Given the description of an element on the screen output the (x, y) to click on. 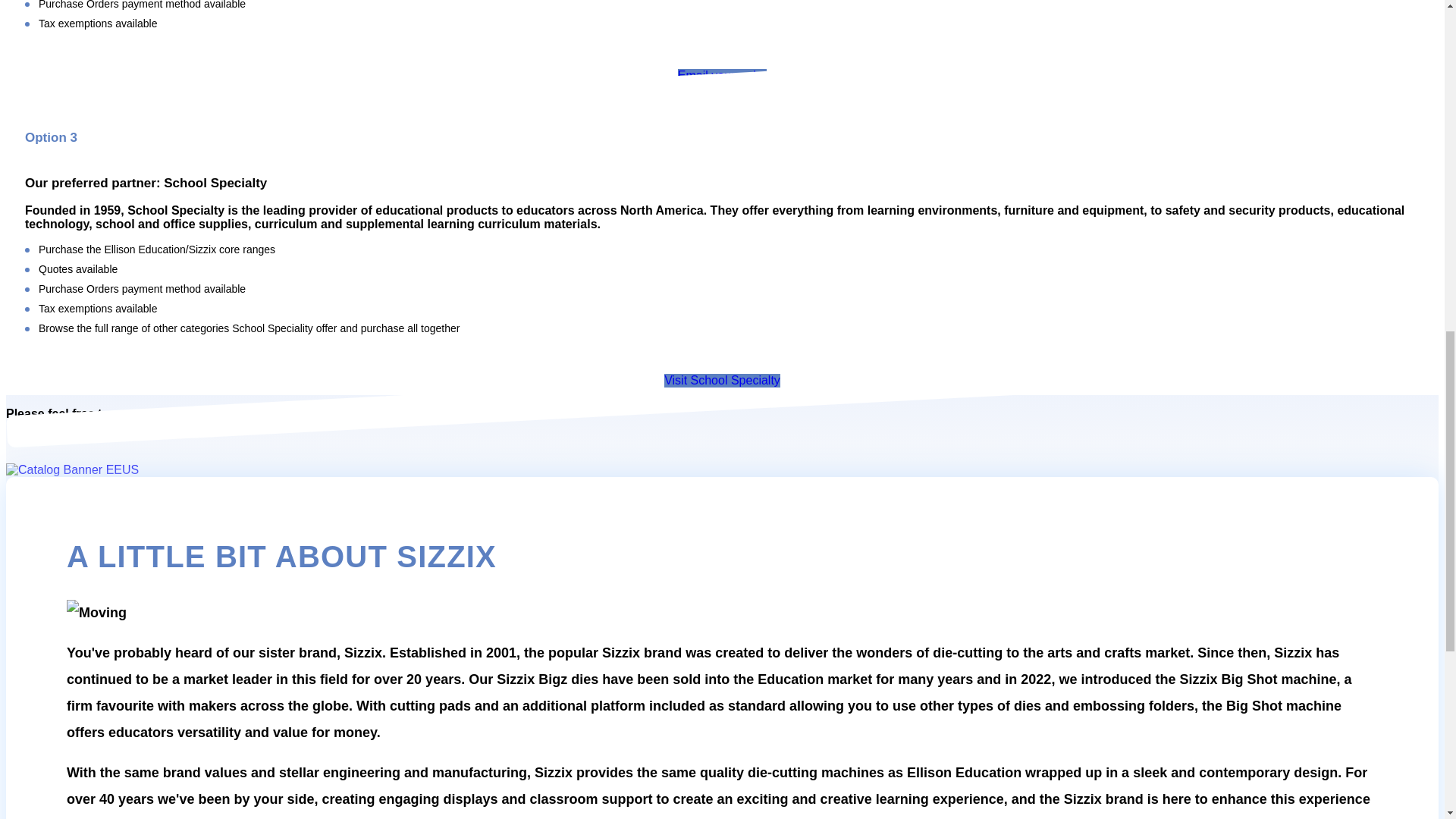
Email your order (722, 75)
Visit School Specialty (721, 380)
contact us here (157, 413)
